Given the description of an element on the screen output the (x, y) to click on. 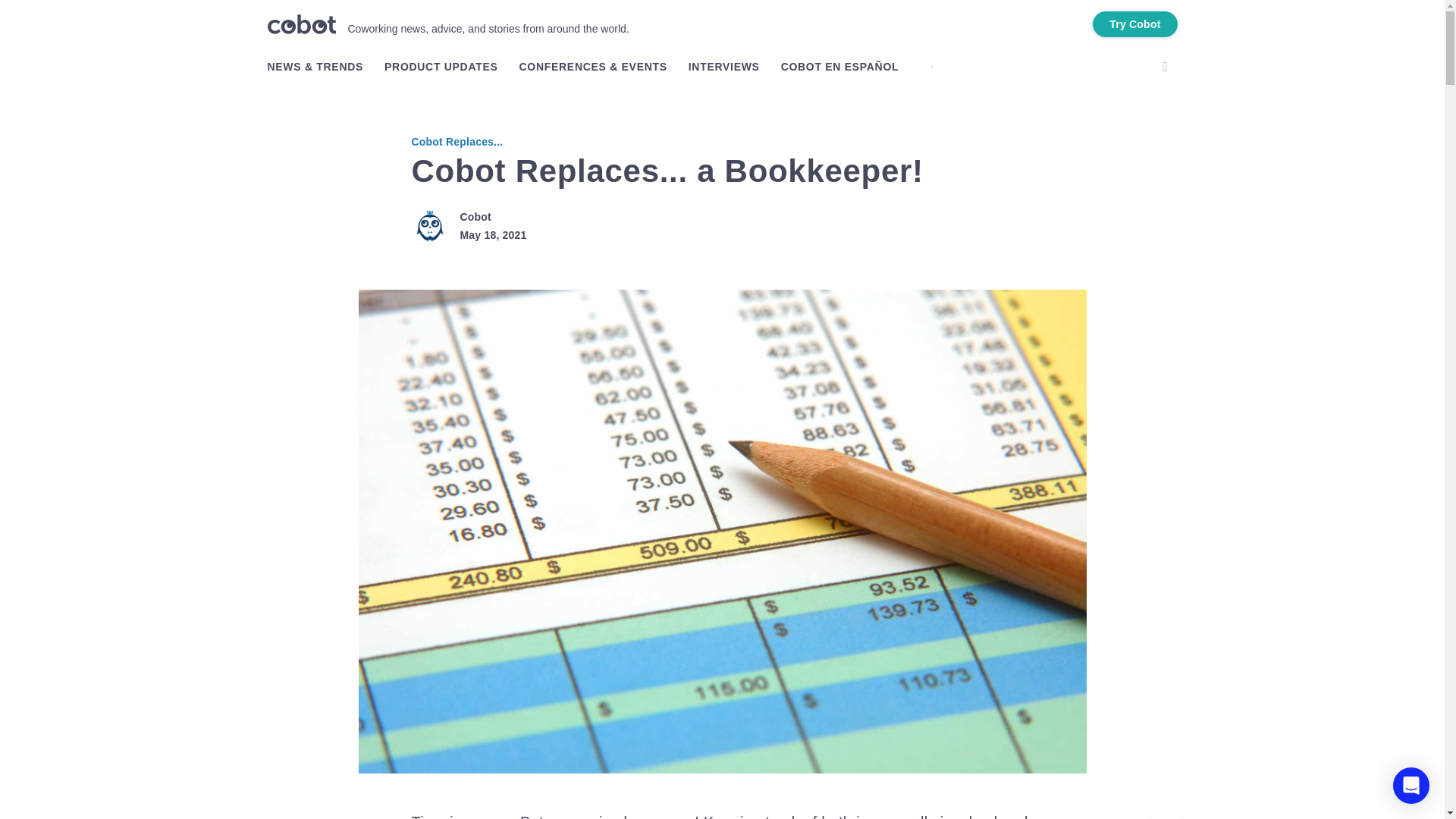
Cobot Blog Home (300, 24)
Cobot Replaces... (456, 141)
Try Cobot (1134, 23)
Cobot (475, 216)
PRODUCT UPDATES (440, 66)
INTERVIEWS (724, 66)
